Given the description of an element on the screen output the (x, y) to click on. 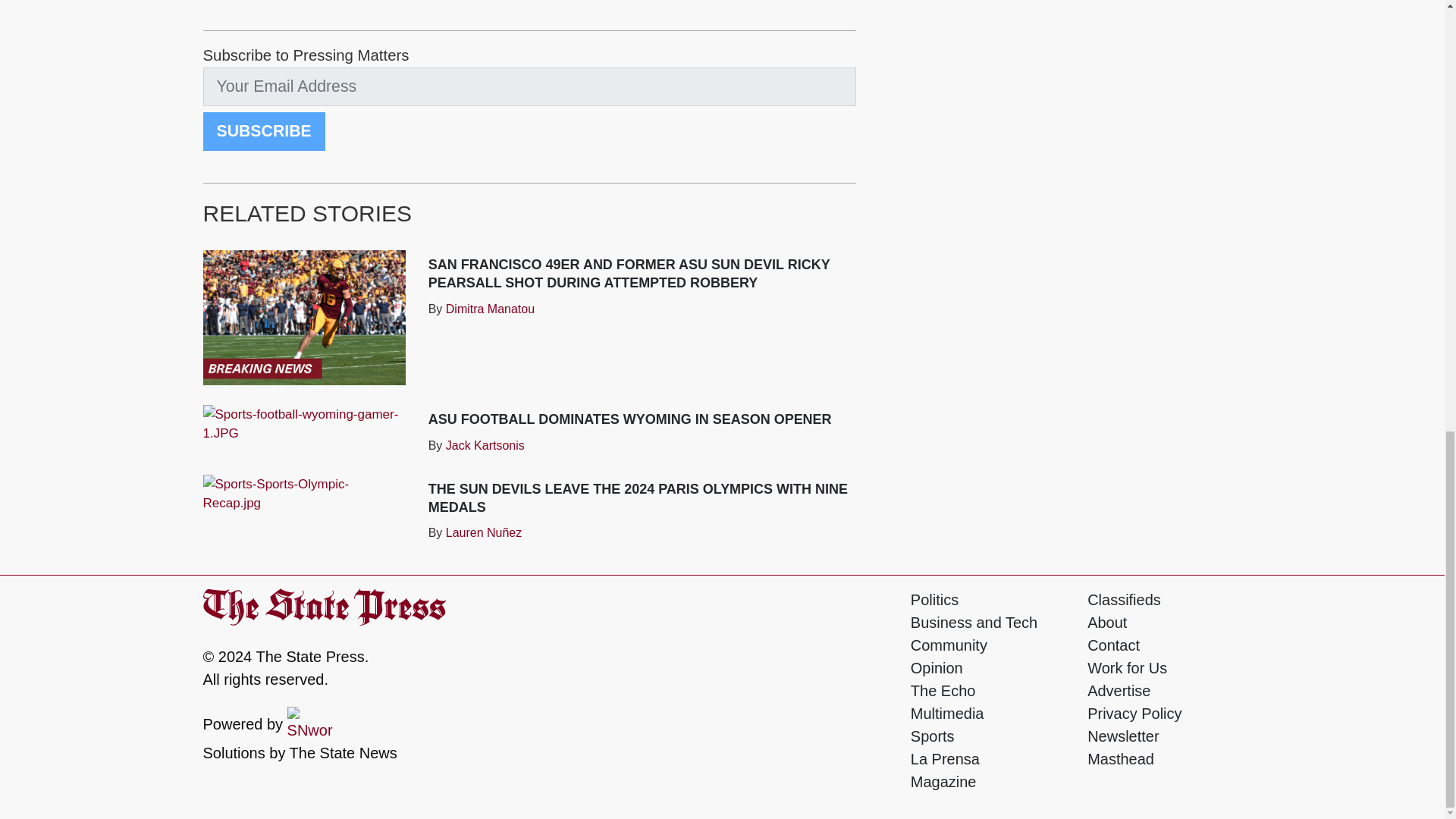
ASU football dominates Wyoming in season opener (304, 423)
Jack Kartsonis (484, 444)
ASU football dominates Wyoming in season opener (629, 418)
Subscribe (263, 131)
Subscribe (263, 131)
Politics (934, 599)
